Given the description of an element on the screen output the (x, y) to click on. 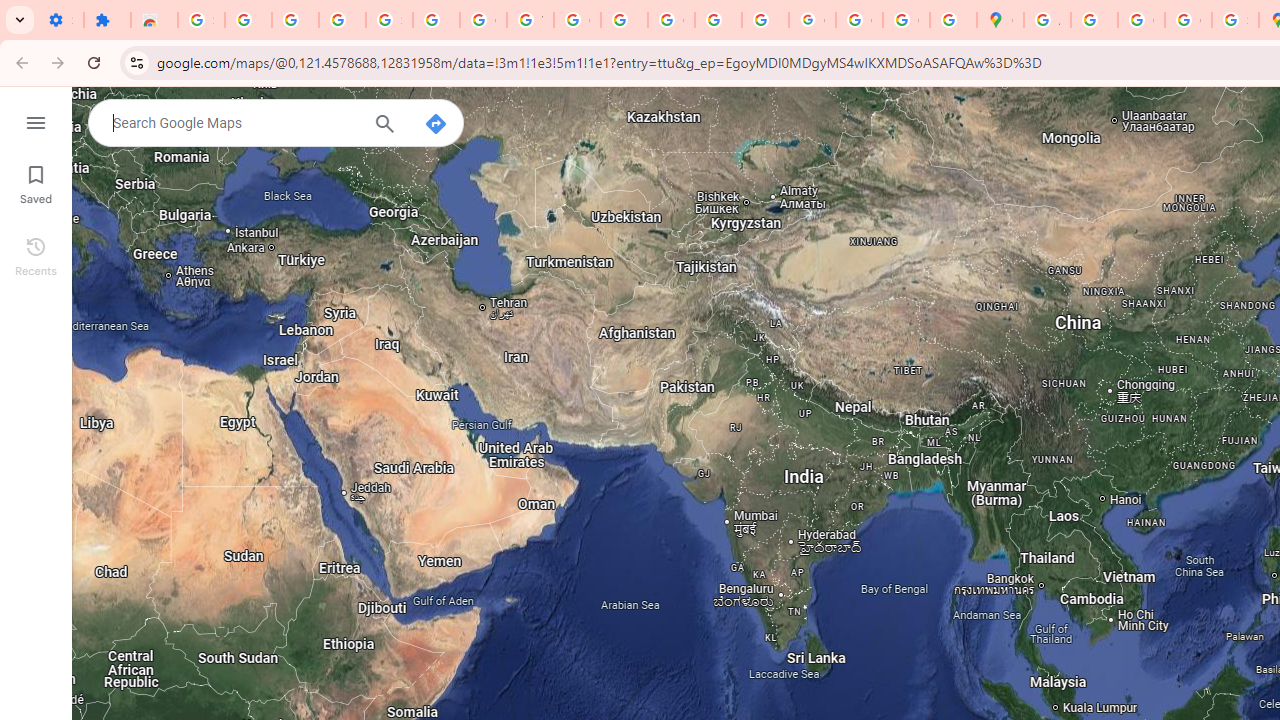
Sign in - Google Accounts (201, 20)
Recents (35, 254)
Sign in - Google Accounts (389, 20)
Google Maps (999, 20)
